Given the description of an element on the screen output the (x, y) to click on. 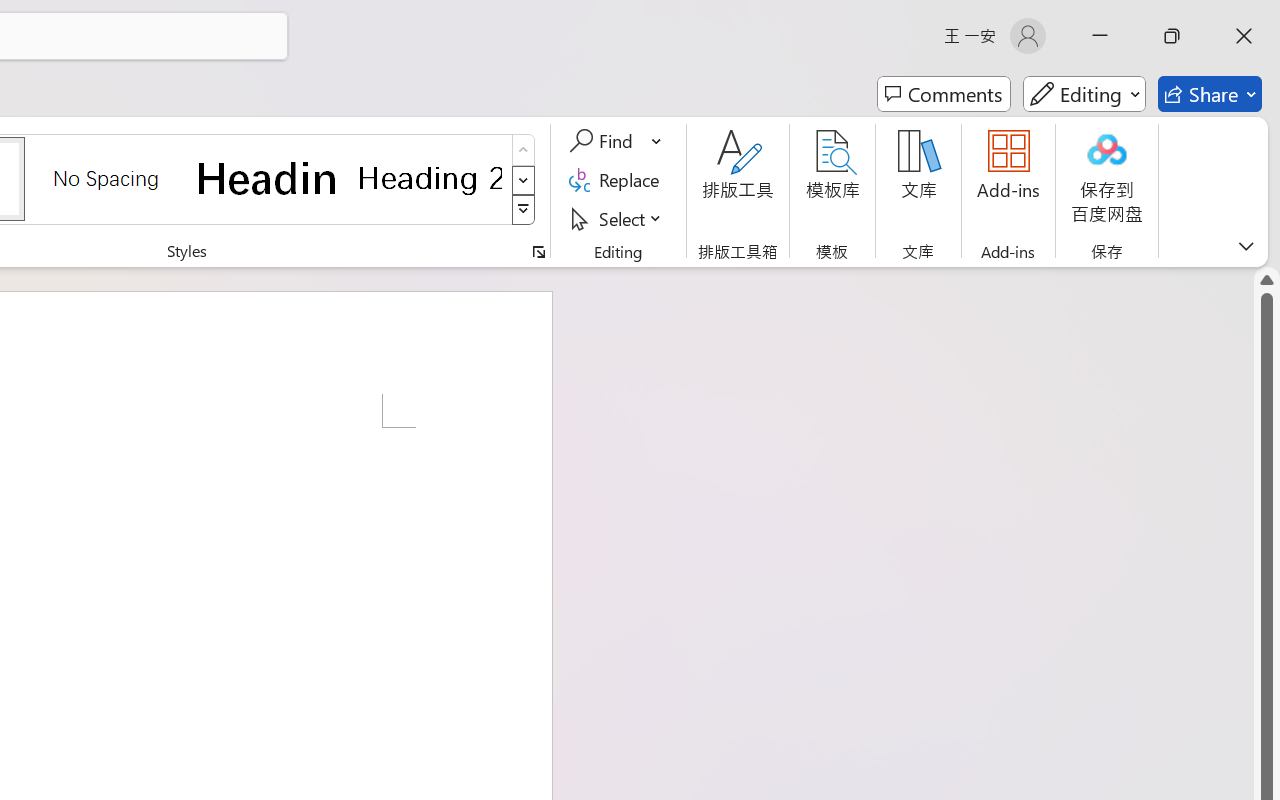
Heading 2 (429, 178)
Styles (523, 209)
Line up (1267, 279)
Select (618, 218)
Row Down (523, 180)
